Given the description of an element on the screen output the (x, y) to click on. 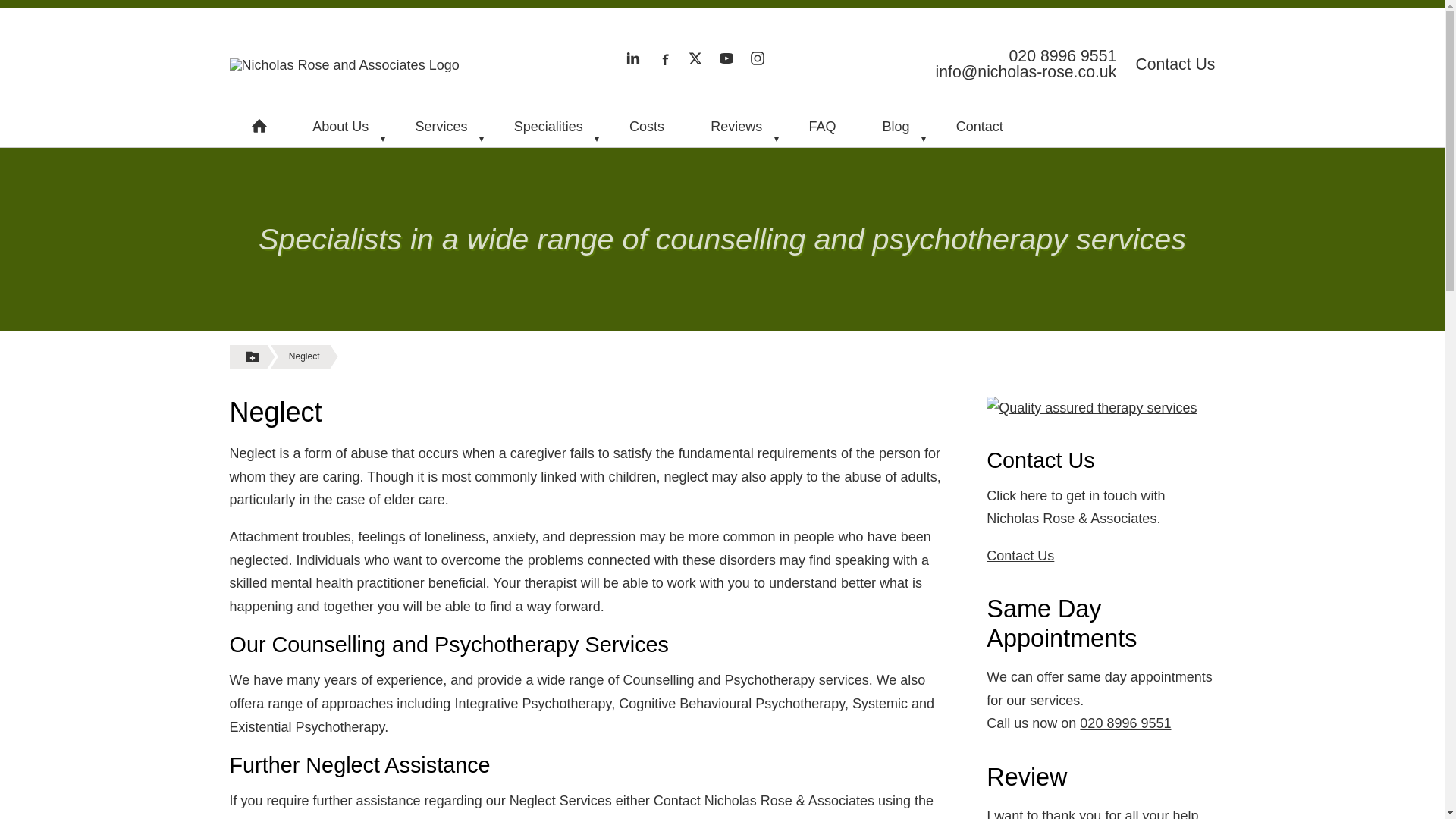
Contact Us (1174, 64)
020 8996 9551 (1015, 56)
Show Breadcrumbs (251, 356)
Services (440, 126)
About Us (340, 126)
